Given the description of an element on the screen output the (x, y) to click on. 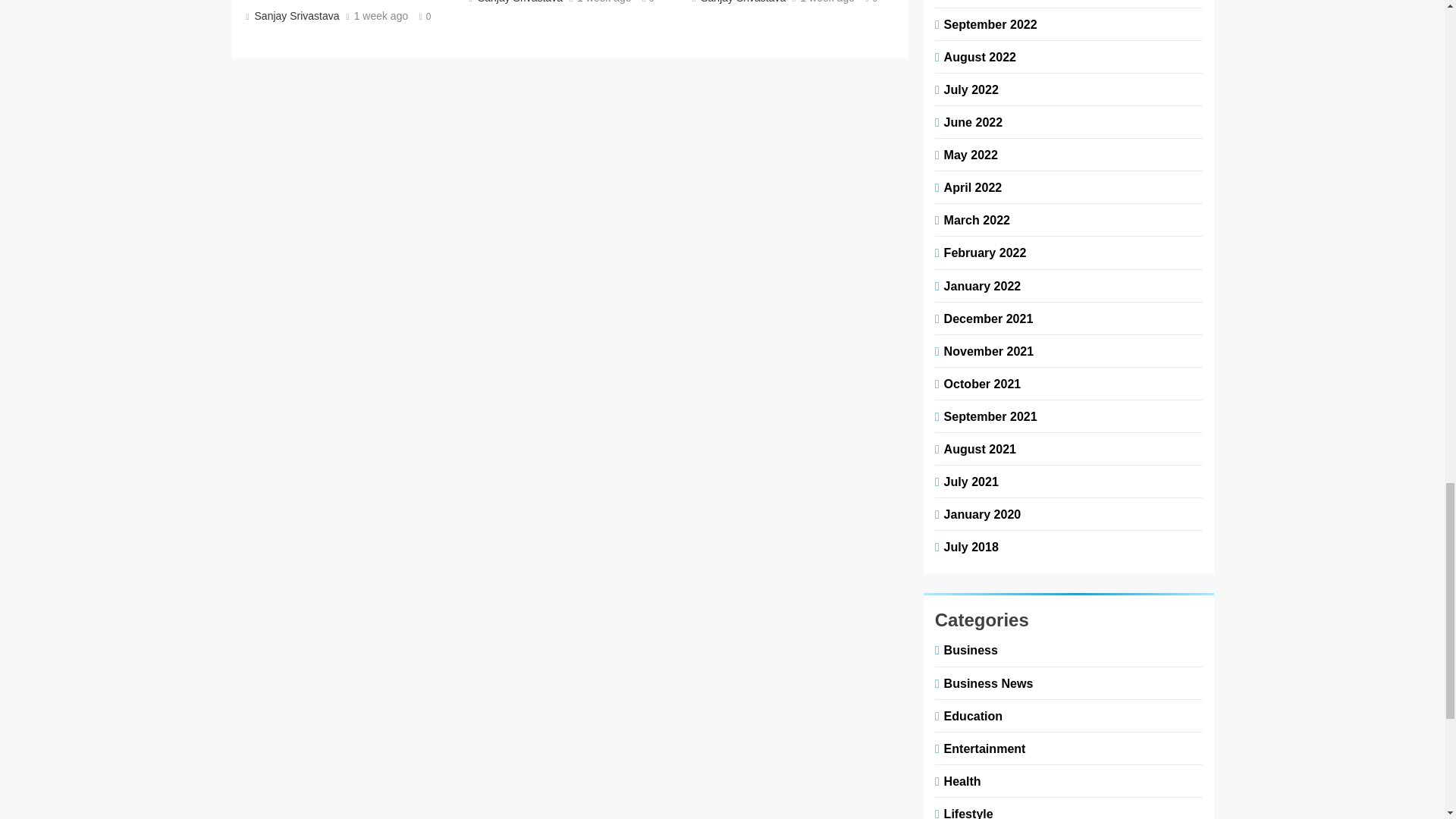
1 week ago (603, 2)
Sanjay Srivastava (517, 2)
1 week ago (826, 2)
1 week ago (381, 16)
Sanjay Srivastava (294, 15)
Sanjay Srivastava (741, 2)
